Given the description of an element on the screen output the (x, y) to click on. 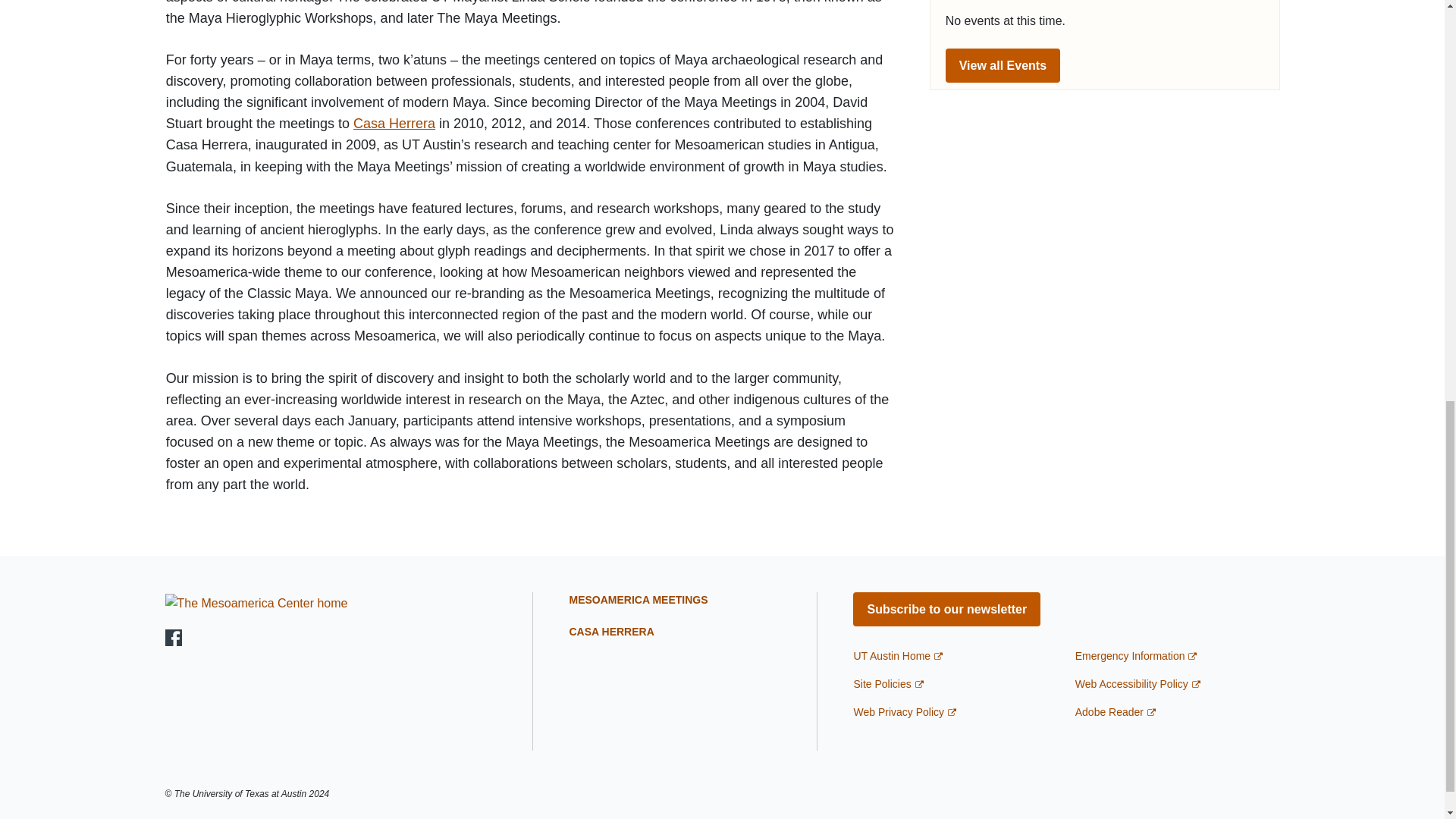
View all Events (1001, 65)
Home (256, 601)
Subscribe to our newsletter (947, 609)
Emergency Information (1135, 655)
Casa Herrera (394, 123)
FacebookFind us on Facebook (173, 636)
FacebookFind us on Facebook (173, 637)
UT Austin Home (897, 655)
Web Privacy Policy (904, 711)
CASA HERRERA (611, 631)
